Given the description of an element on the screen output the (x, y) to click on. 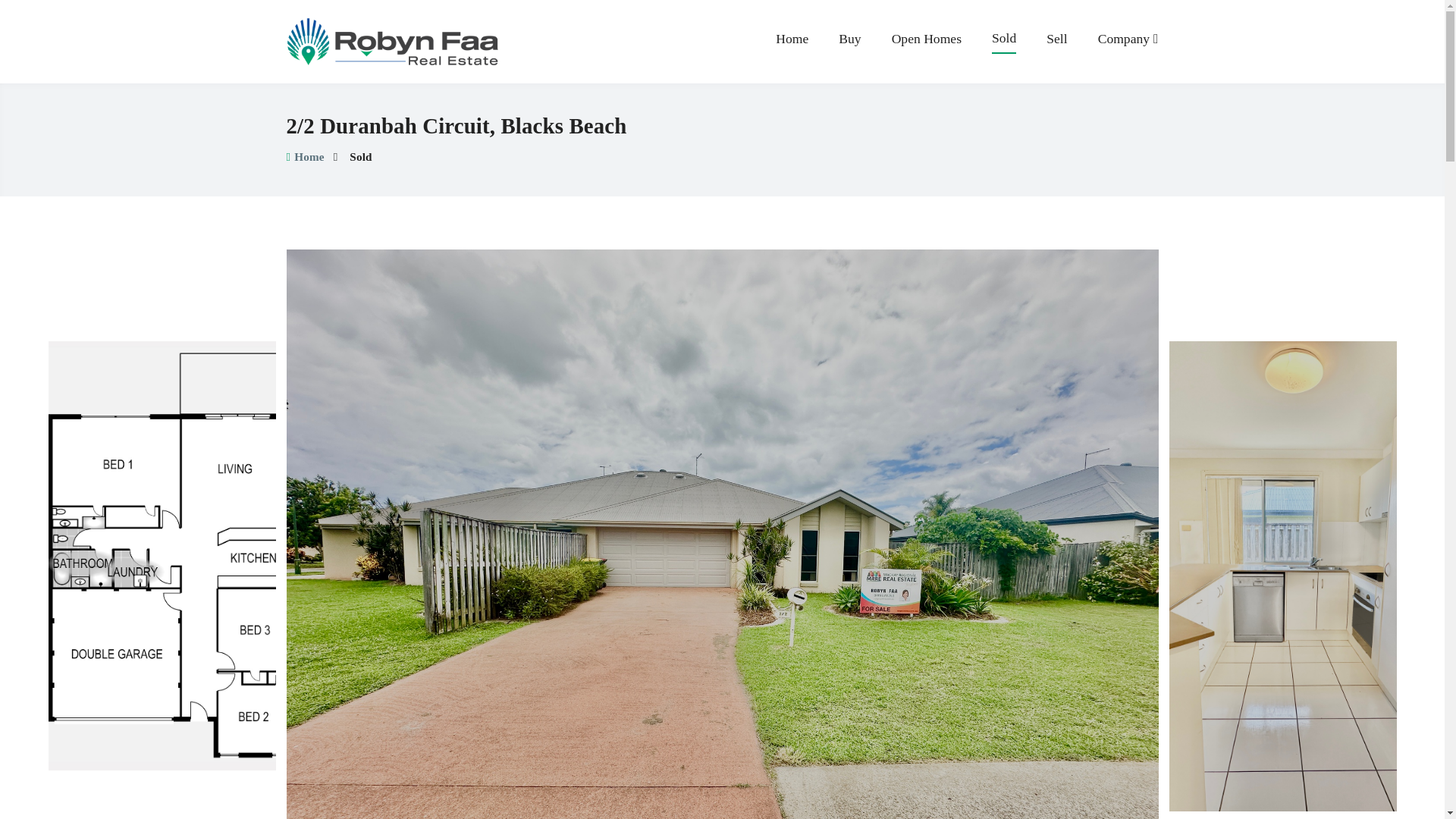
Buy (849, 41)
Open Homes (925, 41)
Sold (1003, 42)
Home (792, 41)
Sell (1056, 41)
